Given the description of an element on the screen output the (x, y) to click on. 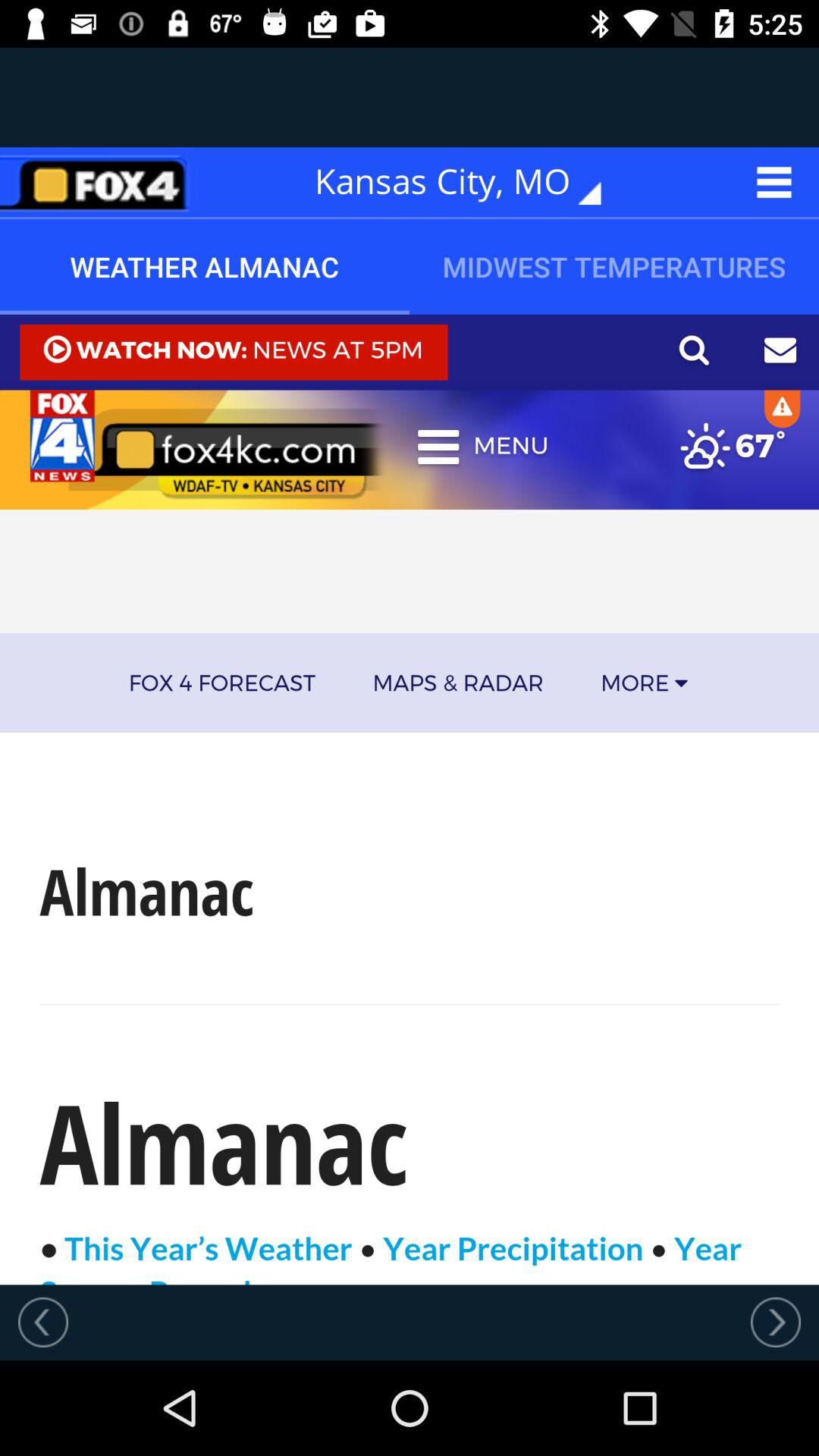
nextpage (775, 1322)
